Given the description of an element on the screen output the (x, y) to click on. 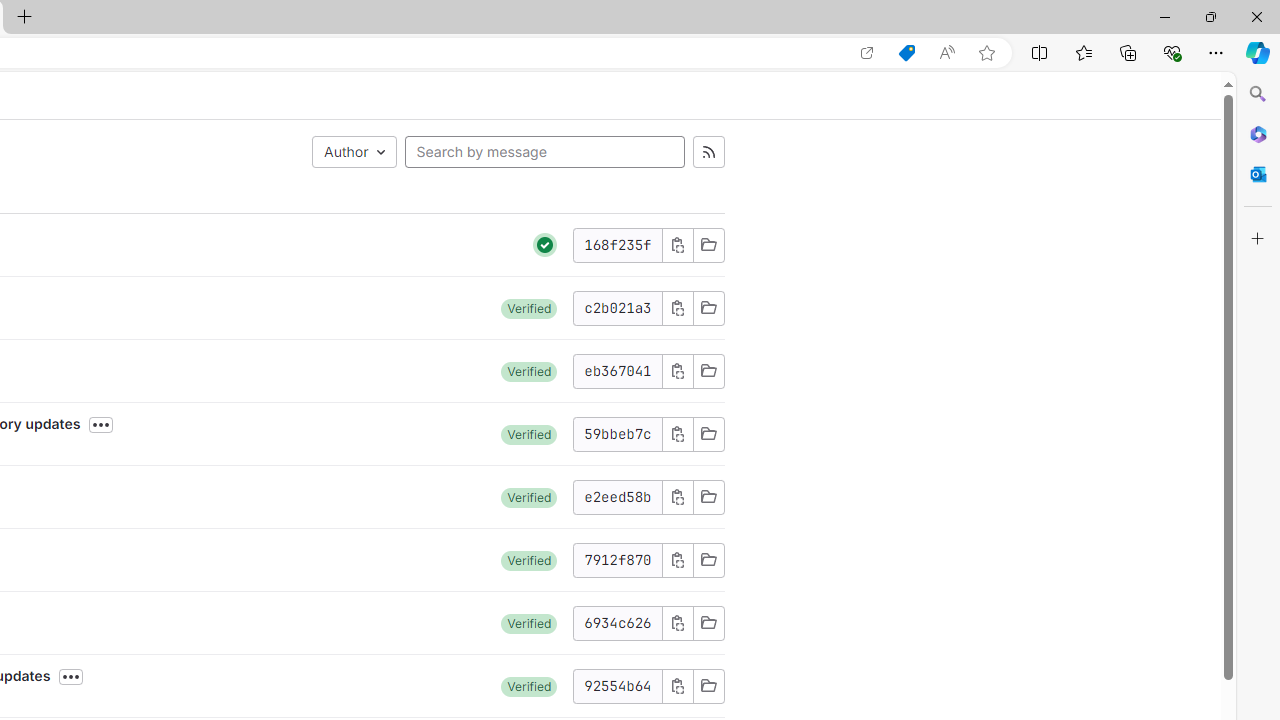
Add this page to favorites (Ctrl+D) (986, 53)
Class: s16 (708, 686)
Restore (1210, 16)
Shopping in Microsoft Edge (906, 53)
Microsoft 365 (1258, 133)
Customize (1258, 239)
Class: s24 gl-icon (545, 244)
Commits feed (708, 151)
Author (354, 151)
Browser essentials (1171, 52)
Browse Files (708, 686)
Open in app (867, 53)
Class: s16 gl-icon gl-button-icon  (677, 686)
Split screen (1039, 52)
Pipeline: passed (545, 245)
